Given the description of an element on the screen output the (x, y) to click on. 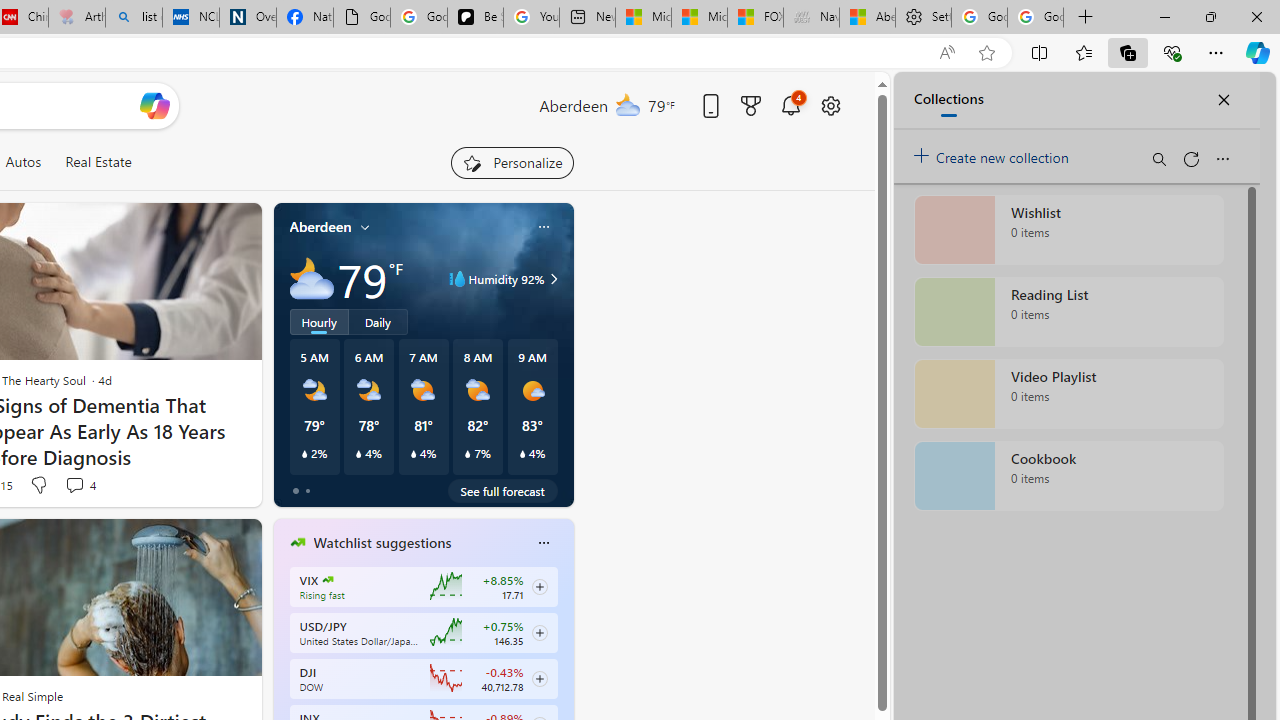
Real Estate (97, 162)
CBOE Market Volatility Index (328, 579)
previous (283, 670)
Mostly cloudy (311, 278)
next (563, 670)
Arthritis: Ask Health Professionals - Sleeping (76, 17)
